Given the description of an element on the screen output the (x, y) to click on. 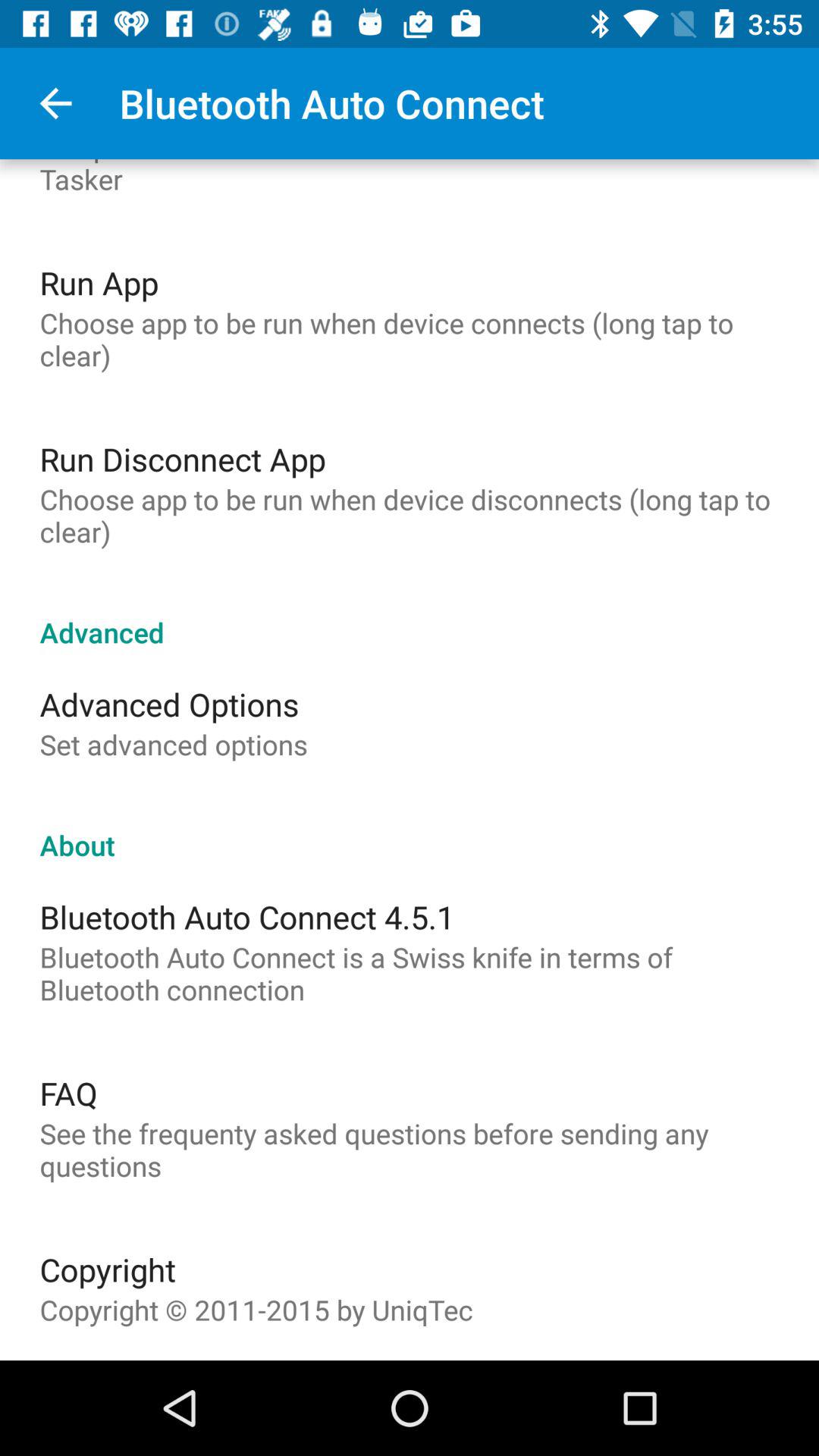
turn off the icon below the set advanced options item (409, 828)
